Given the description of an element on the screen output the (x, y) to click on. 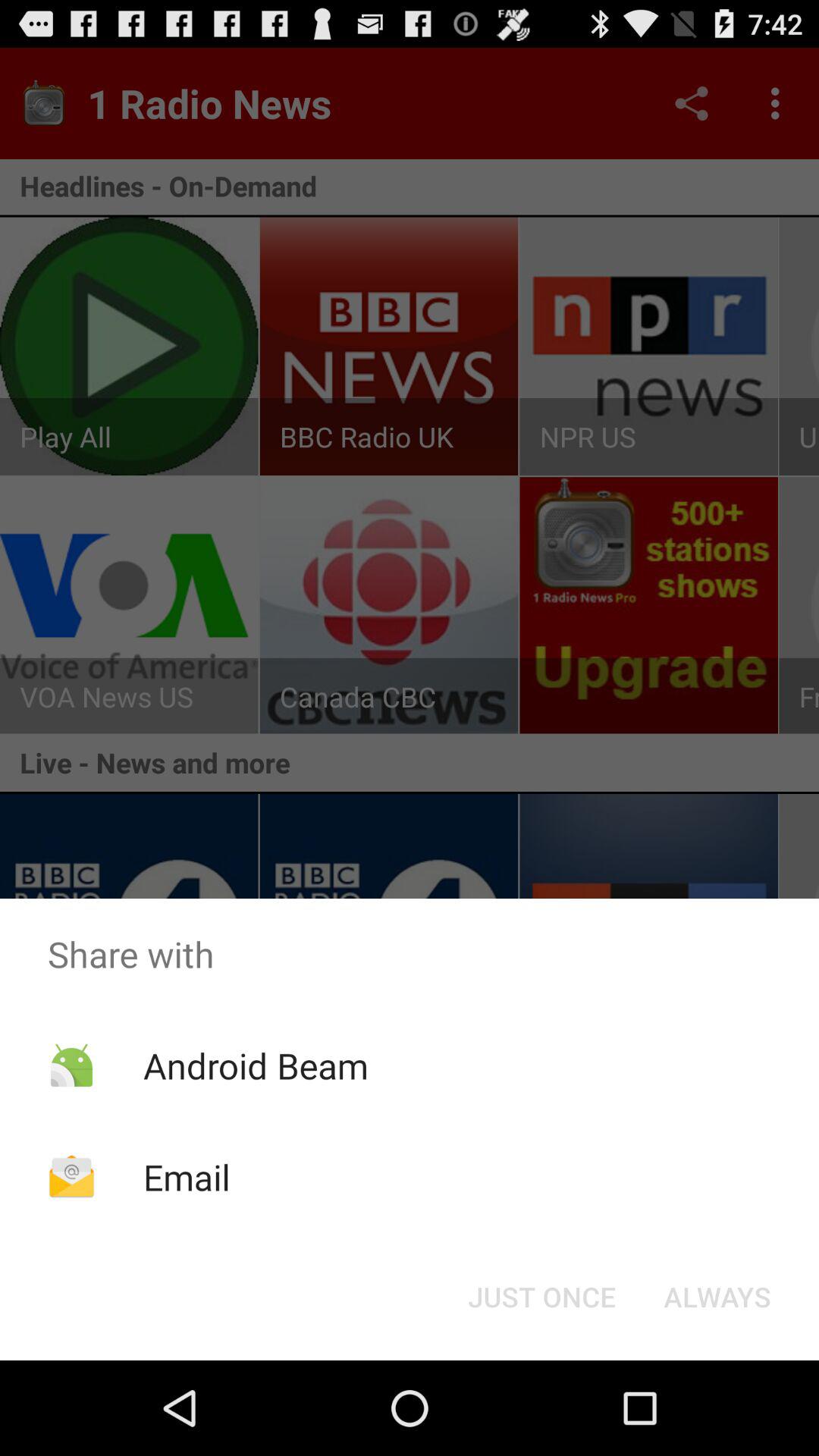
click the button to the left of the always item (541, 1296)
